Given the description of an element on the screen output the (x, y) to click on. 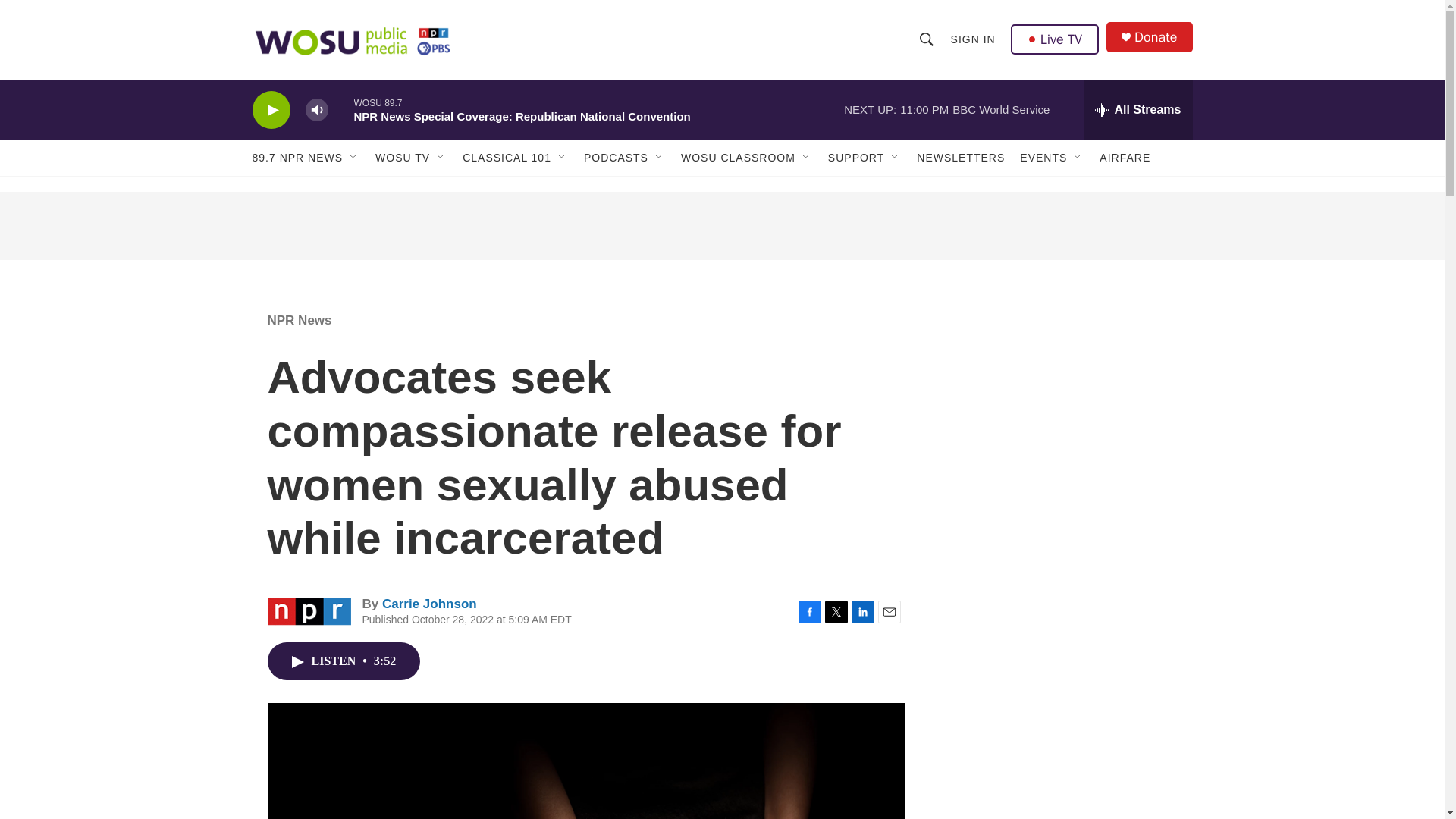
3rd party ad content (721, 225)
3rd party ad content (1062, 400)
3rd party ad content (1062, 619)
3rd party ad content (1062, 782)
